Given the description of an element on the screen output the (x, y) to click on. 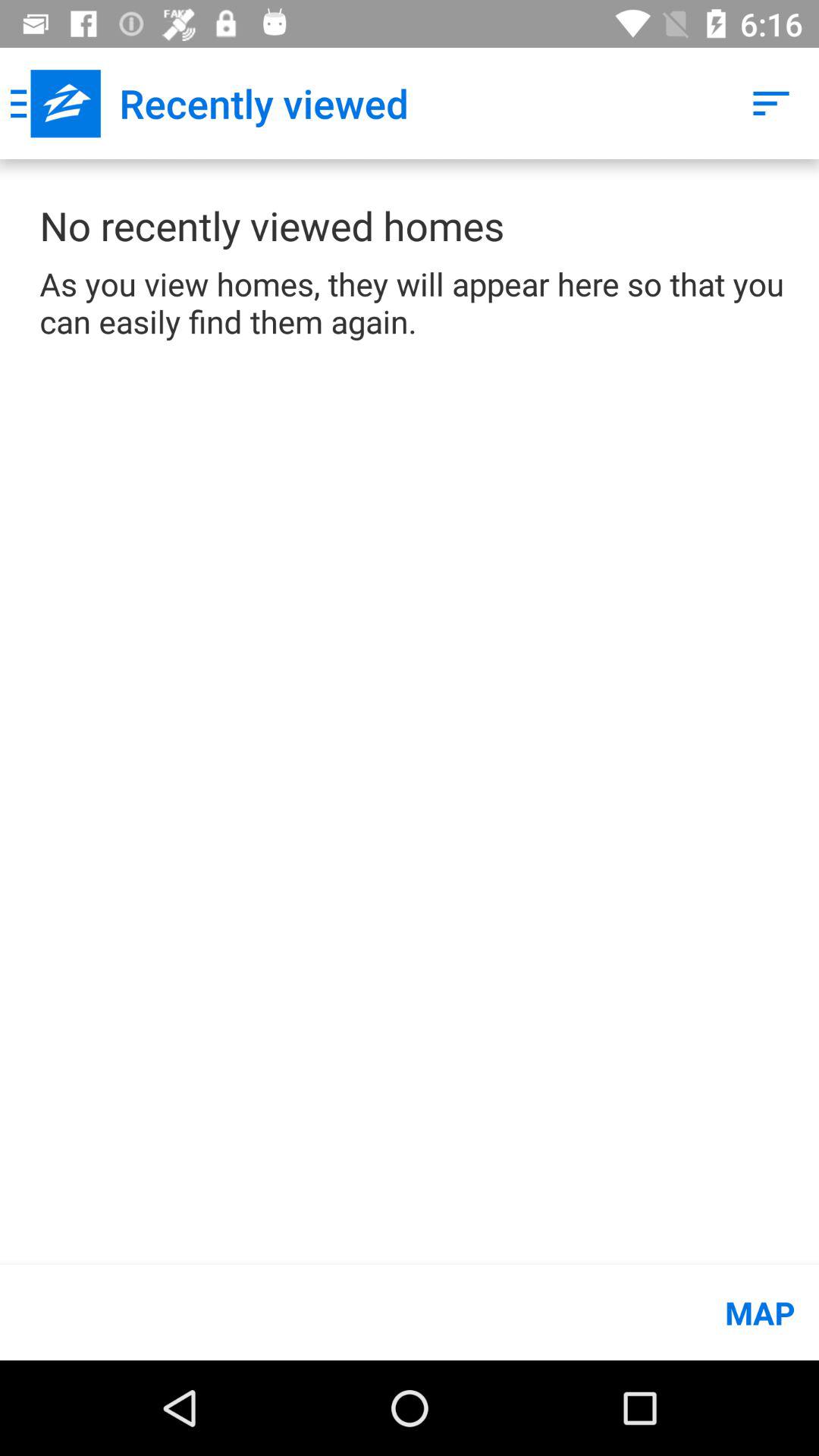
launch the icon at the top right corner (771, 103)
